Given the description of an element on the screen output the (x, y) to click on. 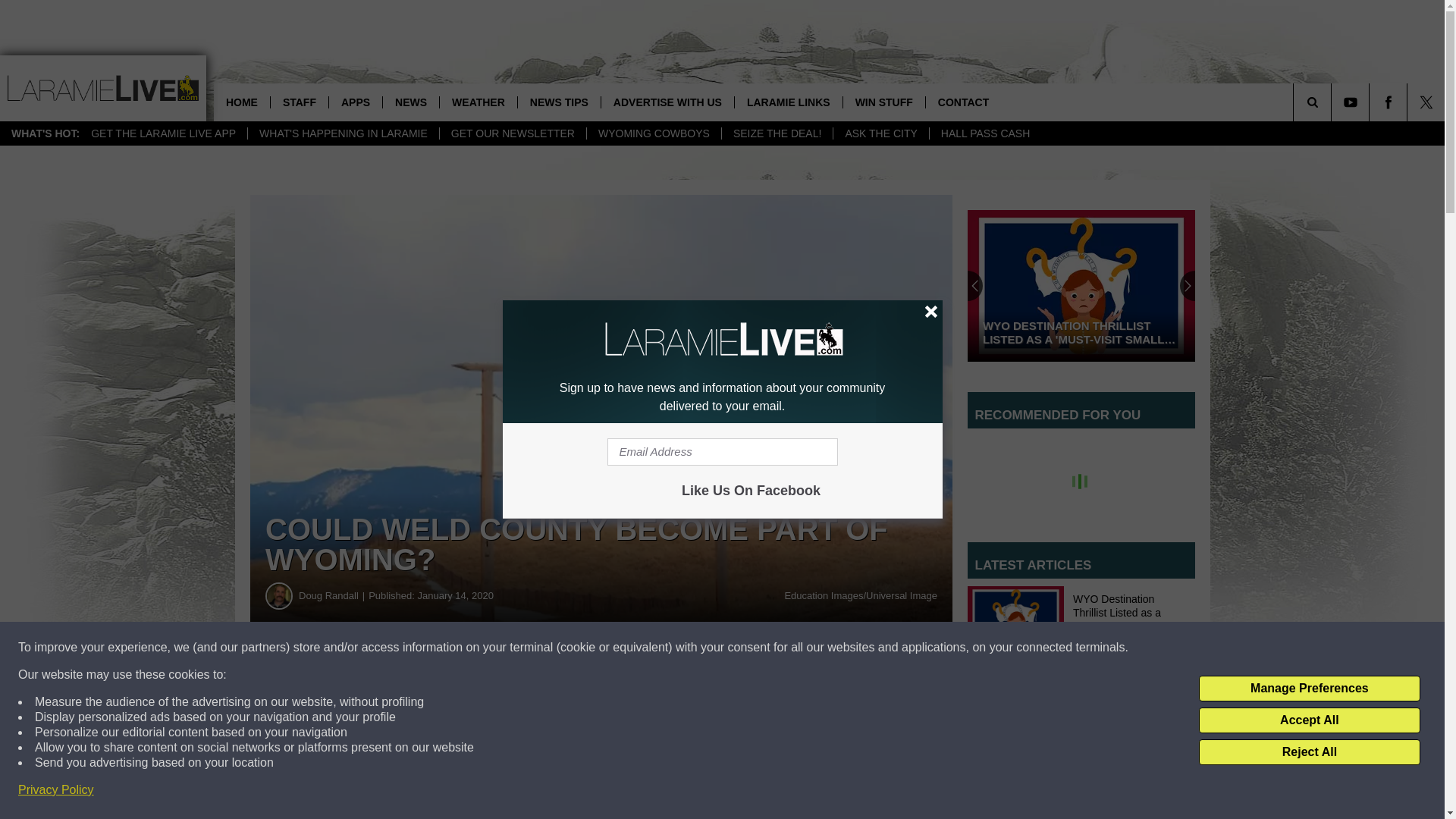
NEWS (410, 102)
Email Address (722, 452)
NEWS TIPS (557, 102)
GET OUR NEWSLETTER (512, 133)
WYOMING COWBOYS (653, 133)
Share on Facebook (460, 681)
Share on Twitter (741, 681)
SEARCH (1333, 102)
APPS (355, 102)
STAFF (299, 102)
WEATHER (477, 102)
WIN STUFF (883, 102)
Privacy Policy (55, 789)
SEARCH (1333, 102)
Reject All (1309, 751)
